Given the description of an element on the screen output the (x, y) to click on. 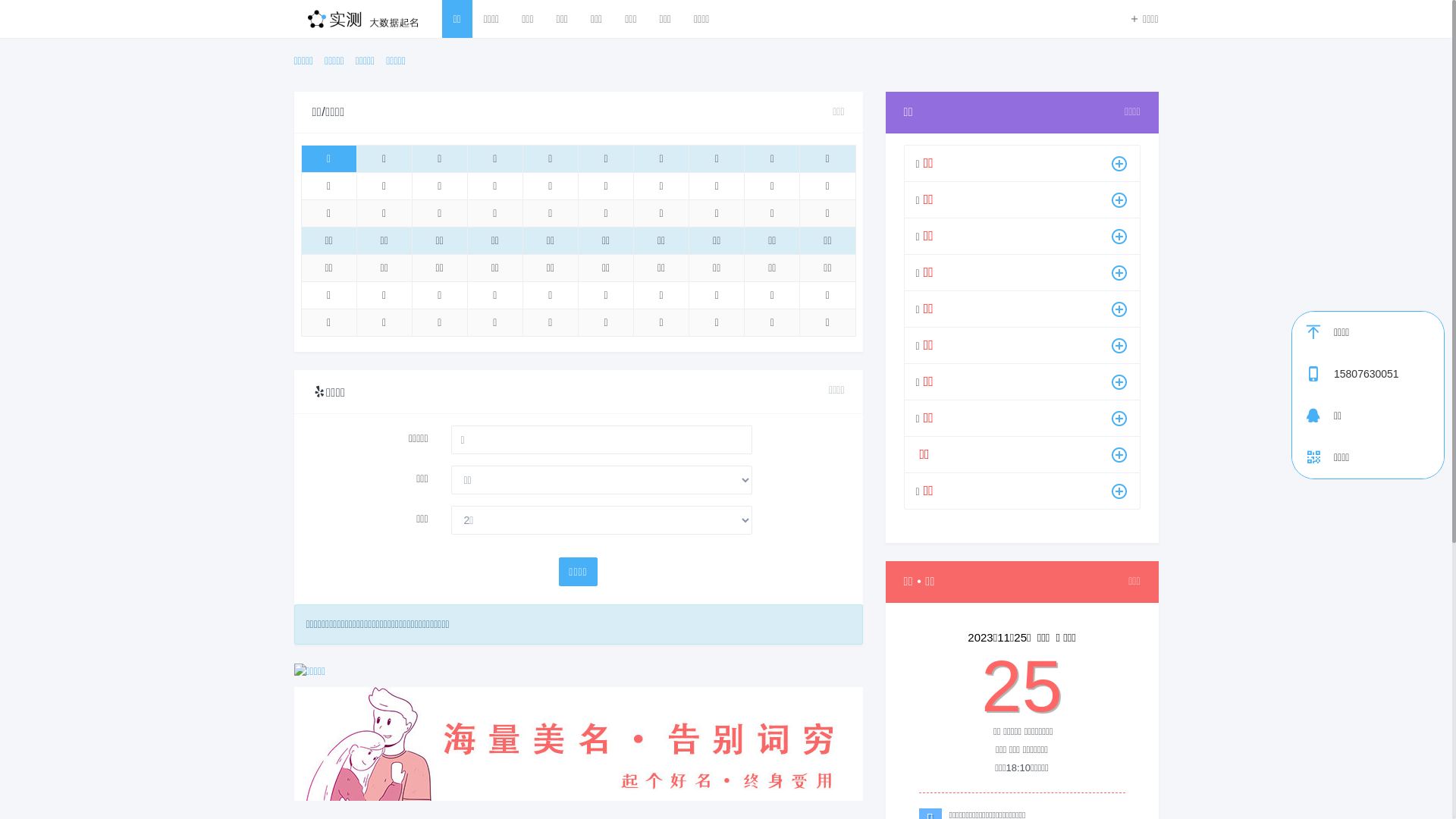
15807630051 Element type: text (1388, 374)
